Given the description of an element on the screen output the (x, y) to click on. 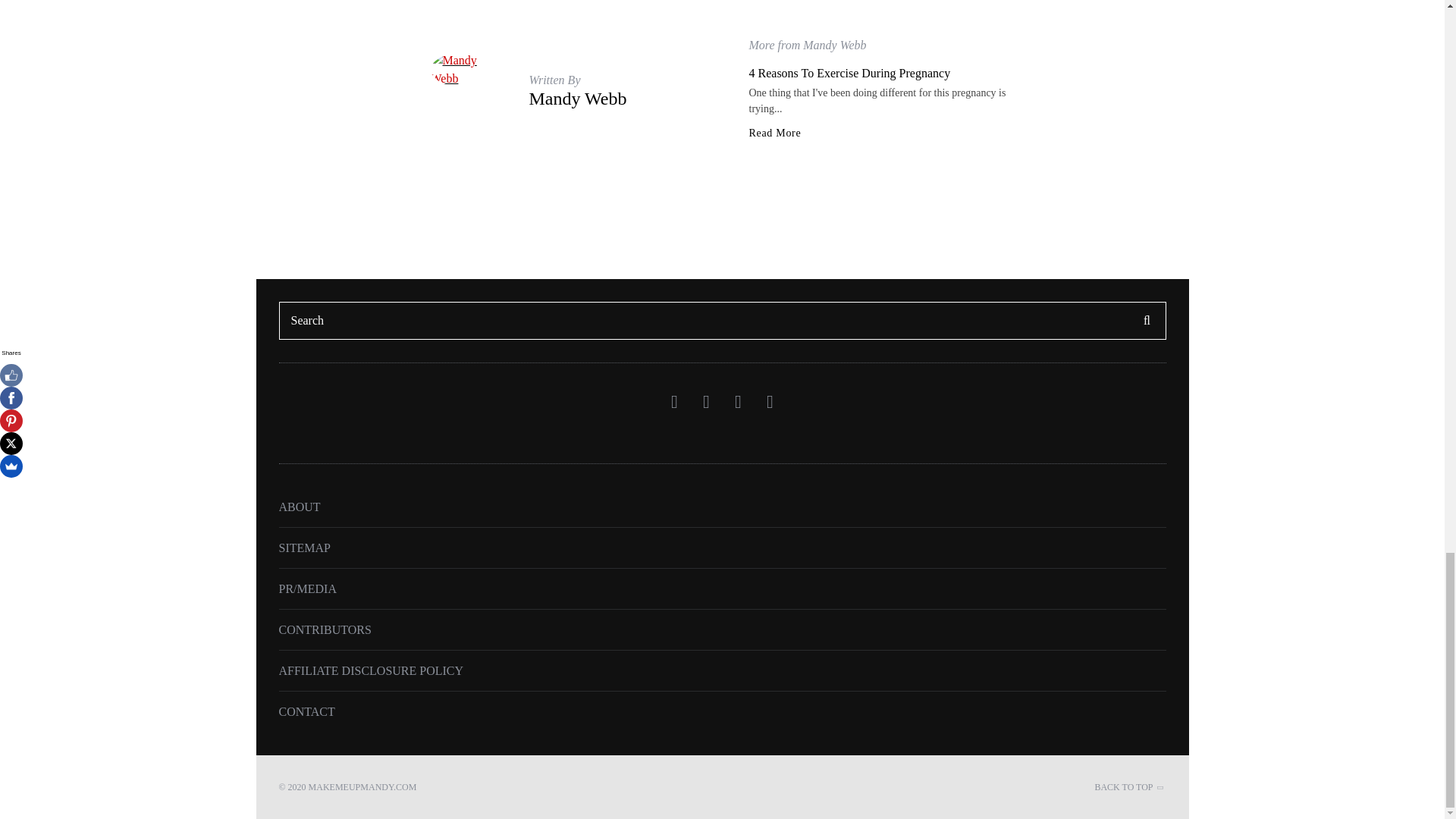
SITEMAP (304, 547)
CONTRIBUTORS (325, 629)
AFFILIATE DISCLOSURE POLICY (371, 670)
CONTACT (306, 711)
ABOUT (299, 506)
Mandy Webb (578, 98)
Read More (775, 132)
